Given the description of an element on the screen output the (x, y) to click on. 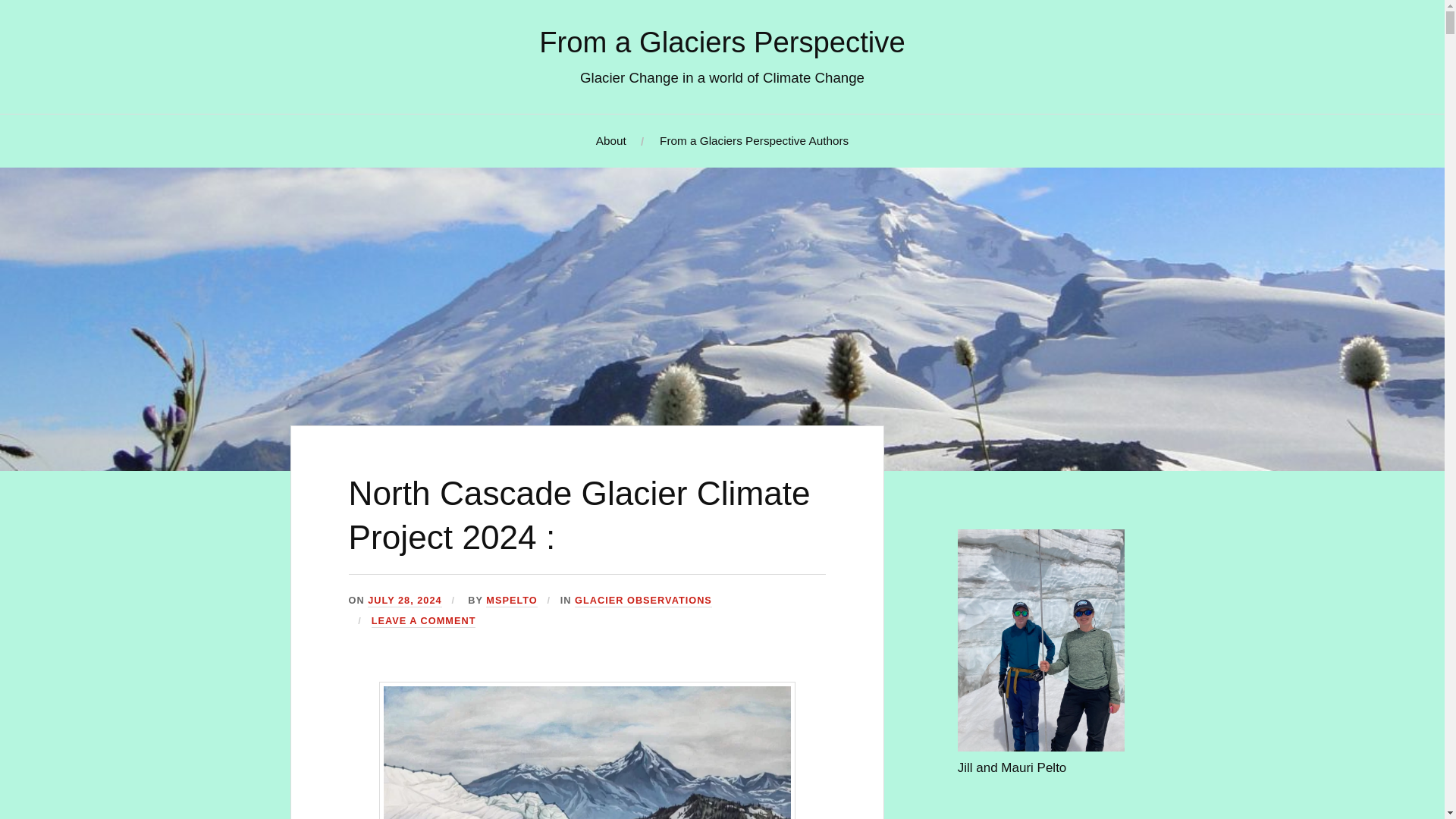
From a Glaciers Perspective Authors (753, 140)
North Cascade Glacier Climate Project 2024 : (579, 515)
MSPELTO (511, 600)
LEAVE A COMMENT (423, 621)
From a Glaciers Perspective (721, 41)
GLACIER OBSERVATIONS (643, 600)
JULY 28, 2024 (404, 600)
